Given the description of an element on the screen output the (x, y) to click on. 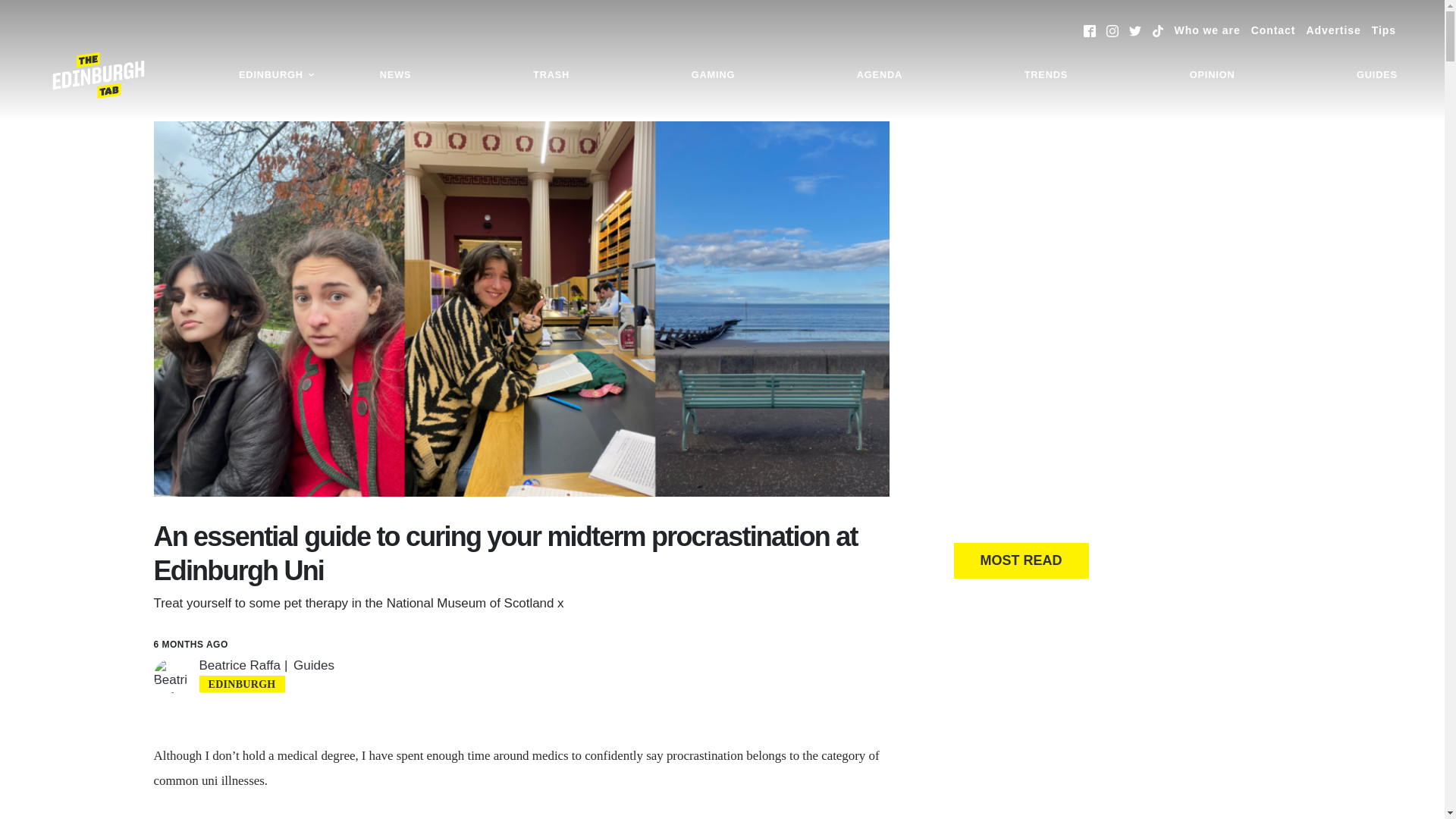
Tips (1383, 29)
TRASH (550, 75)
NEWS (395, 75)
Contact (1272, 29)
OPINION (1211, 75)
Advertise (1332, 29)
GAMING (712, 75)
EDINBURGH (276, 75)
AGENDA (879, 75)
Who we are (1207, 29)
GUIDES (1377, 75)
TRENDS (1045, 75)
